Given the description of an element on the screen output the (x, y) to click on. 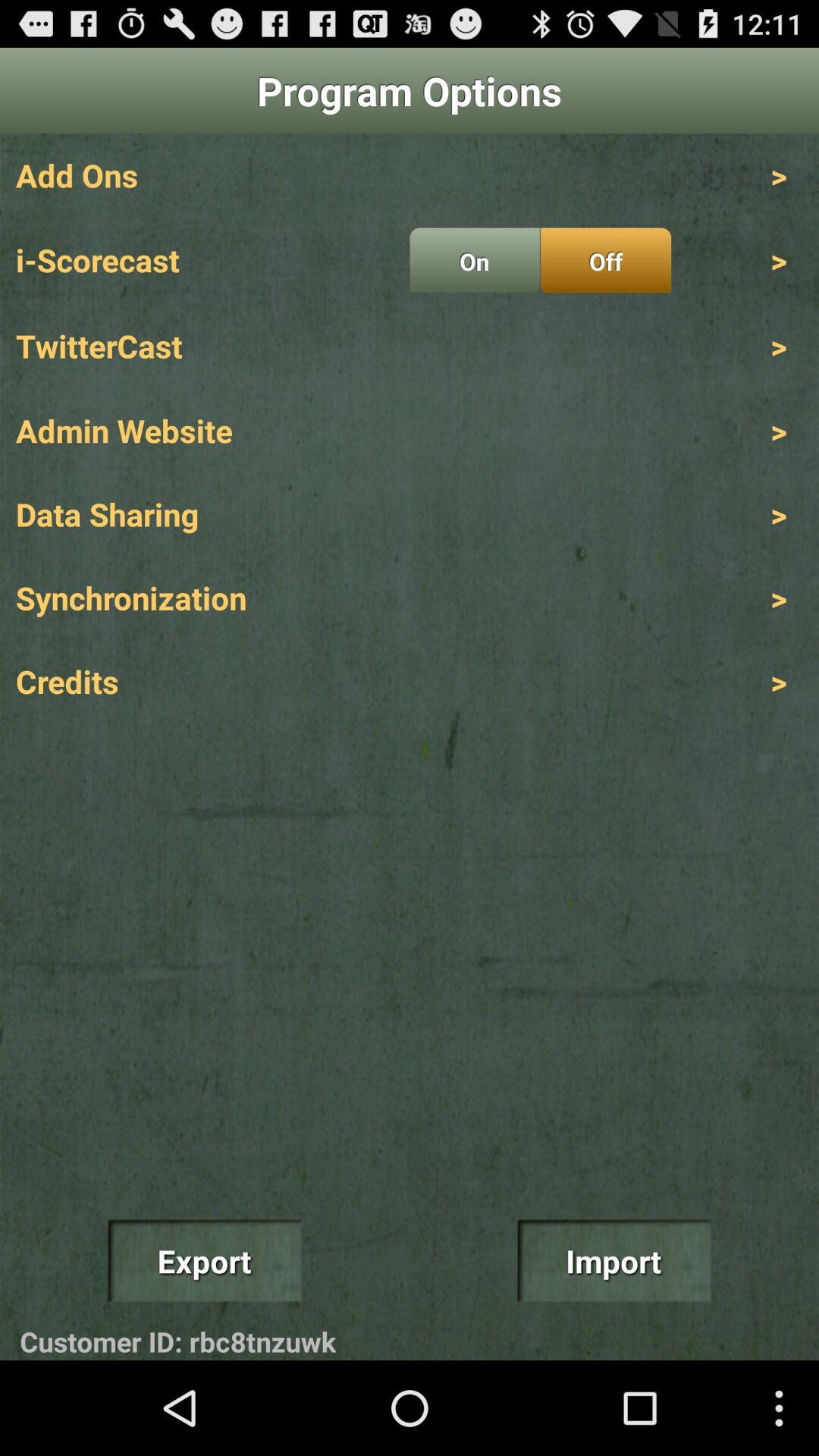
launch the radio button to the right of the on item (605, 259)
